Given the description of an element on the screen output the (x, y) to click on. 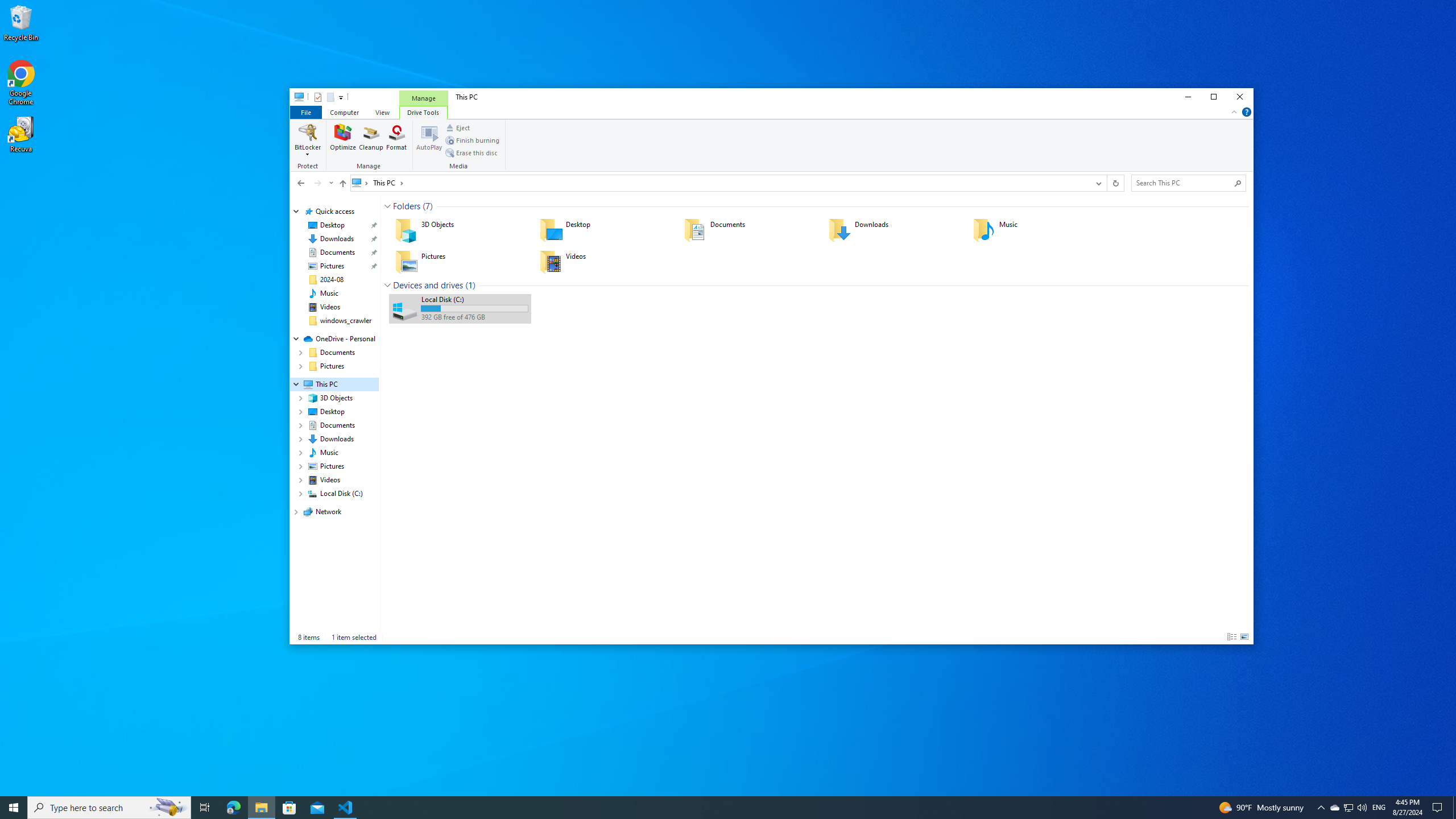
Search highlights icon opens search home window (167, 807)
Tray Input Indicator - English (United States) (1378, 807)
Desktop (603, 229)
Up band toolbar (342, 184)
Customize Quick Access Toolbar (341, 96)
Count (470, 285)
System (295, 98)
Documents (pinned) (337, 252)
Optimize (343, 140)
Pictures (459, 261)
